Given the description of an element on the screen output the (x, y) to click on. 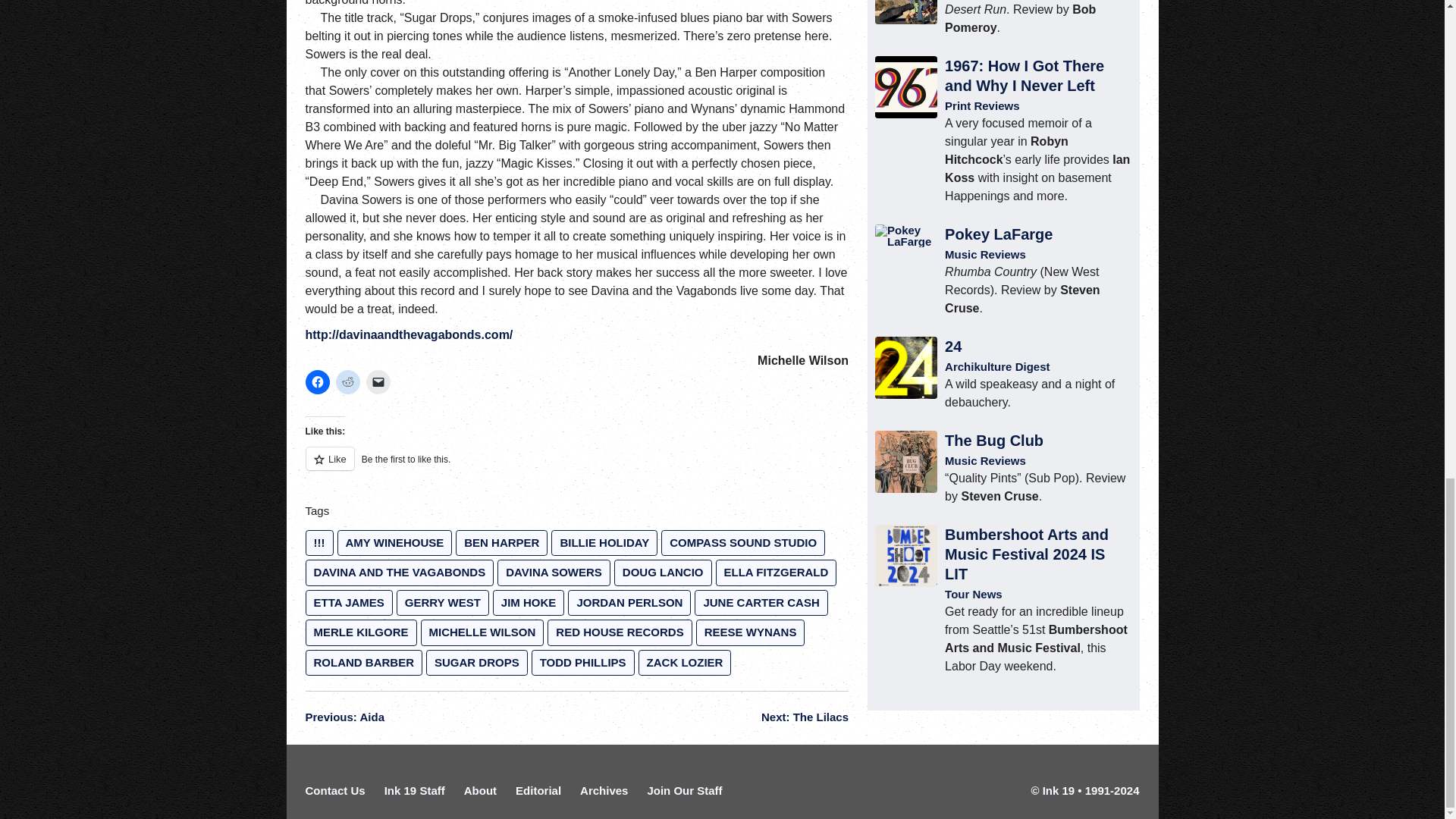
Click to share on Facebook (316, 381)
Click to share on Reddit (346, 381)
Click to email a link to a friend (377, 381)
Like or Reblog (575, 467)
